Given the description of an element on the screen output the (x, y) to click on. 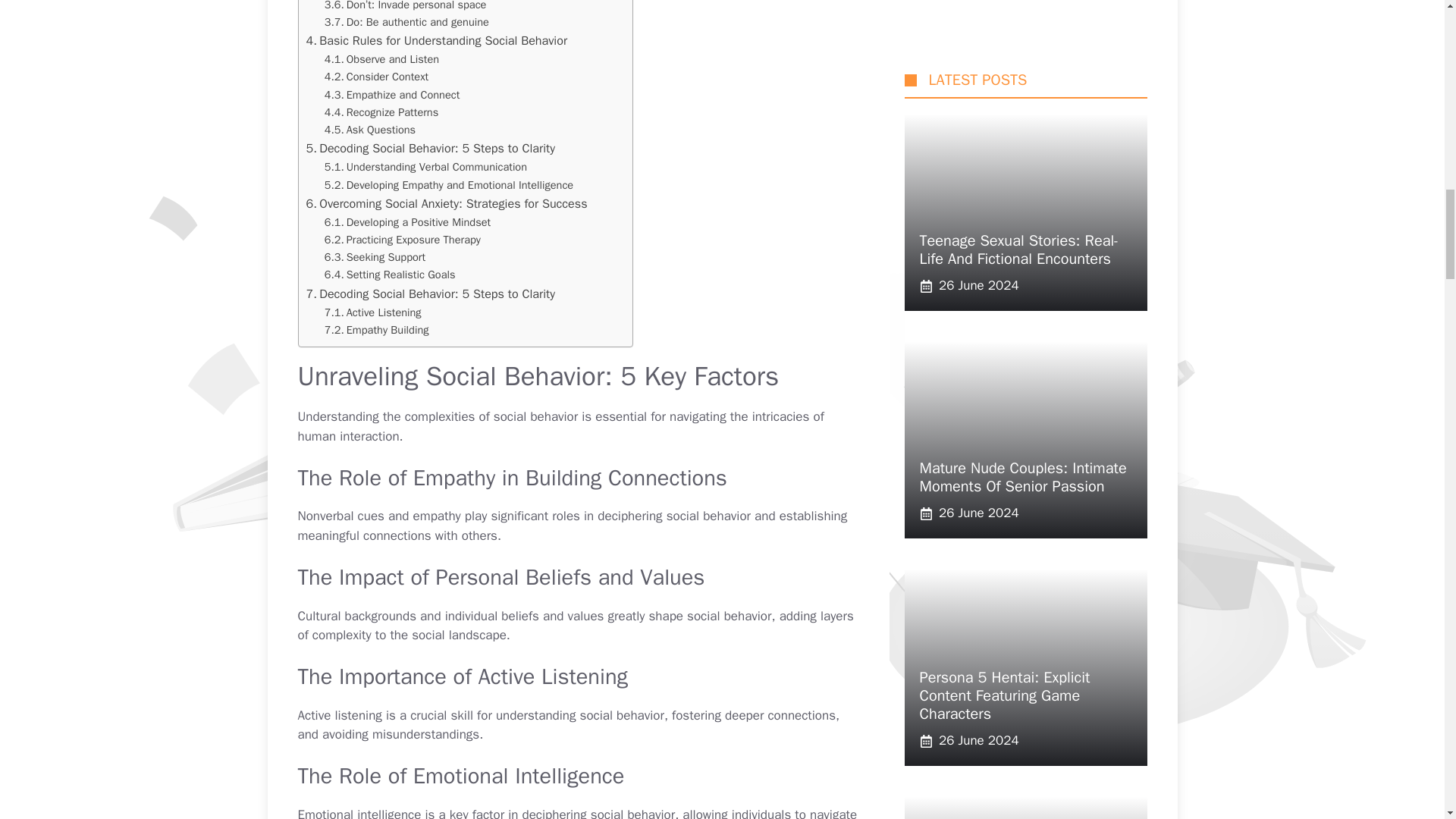
Empathize and Connect (392, 95)
Do: Be authentic and genuine (406, 22)
Basic Rules for Understanding Social Behavior (436, 40)
Recognize Patterns (381, 112)
Developing Empathy and Emotional Intelligence (448, 185)
Understanding Verbal Communication (425, 167)
Decoding Social Behavior: 5 Steps to Clarity (429, 148)
Consider Context (376, 76)
Ask Questions (369, 129)
Observe and Listen (381, 58)
